Given the description of an element on the screen output the (x, y) to click on. 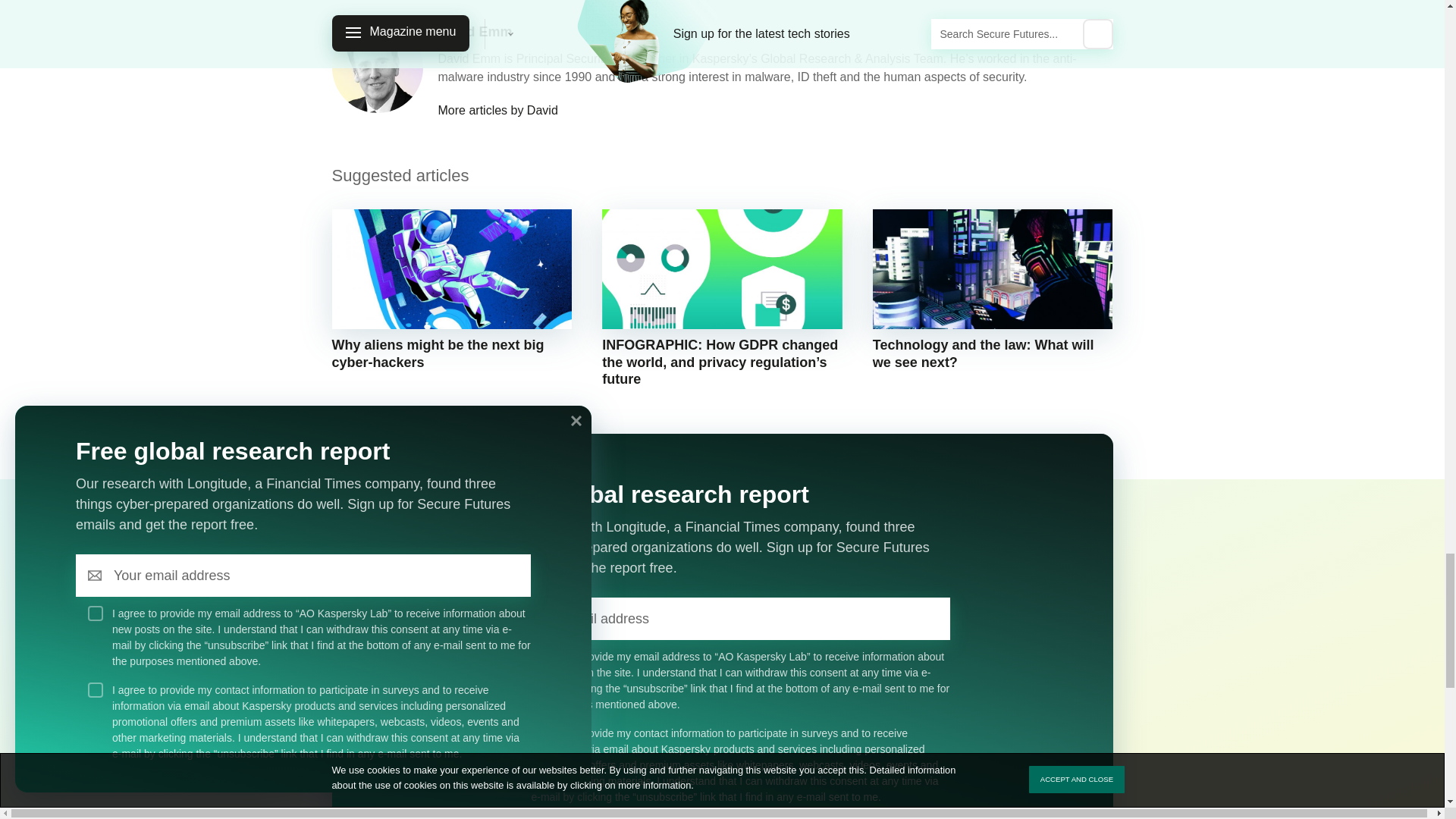
Sign me Up (928, 618)
